Given the description of an element on the screen output the (x, y) to click on. 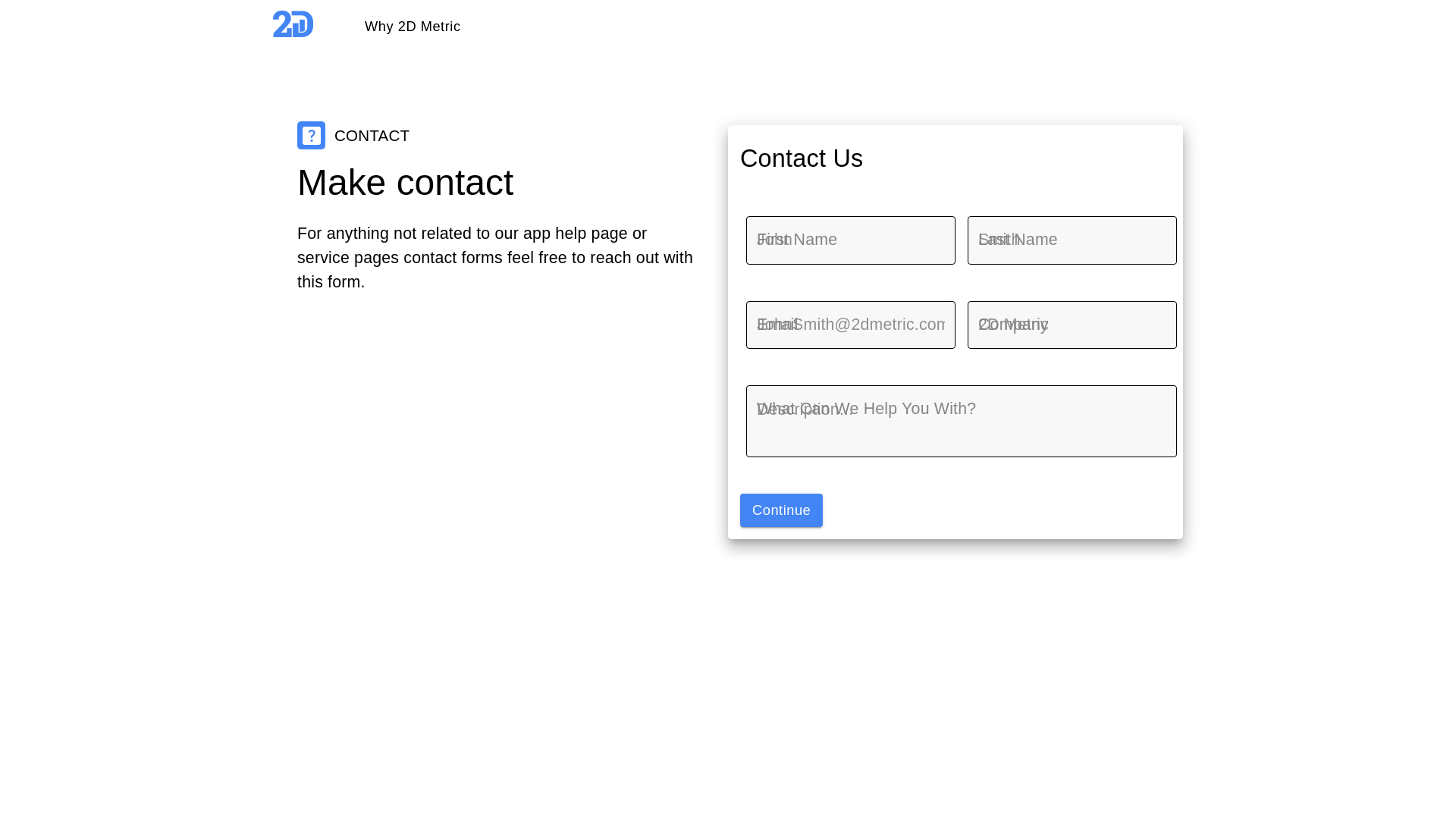
Why 2D Metric Element type: text (412, 23)
Continue Element type: text (781, 510)
